Given the description of an element on the screen output the (x, y) to click on. 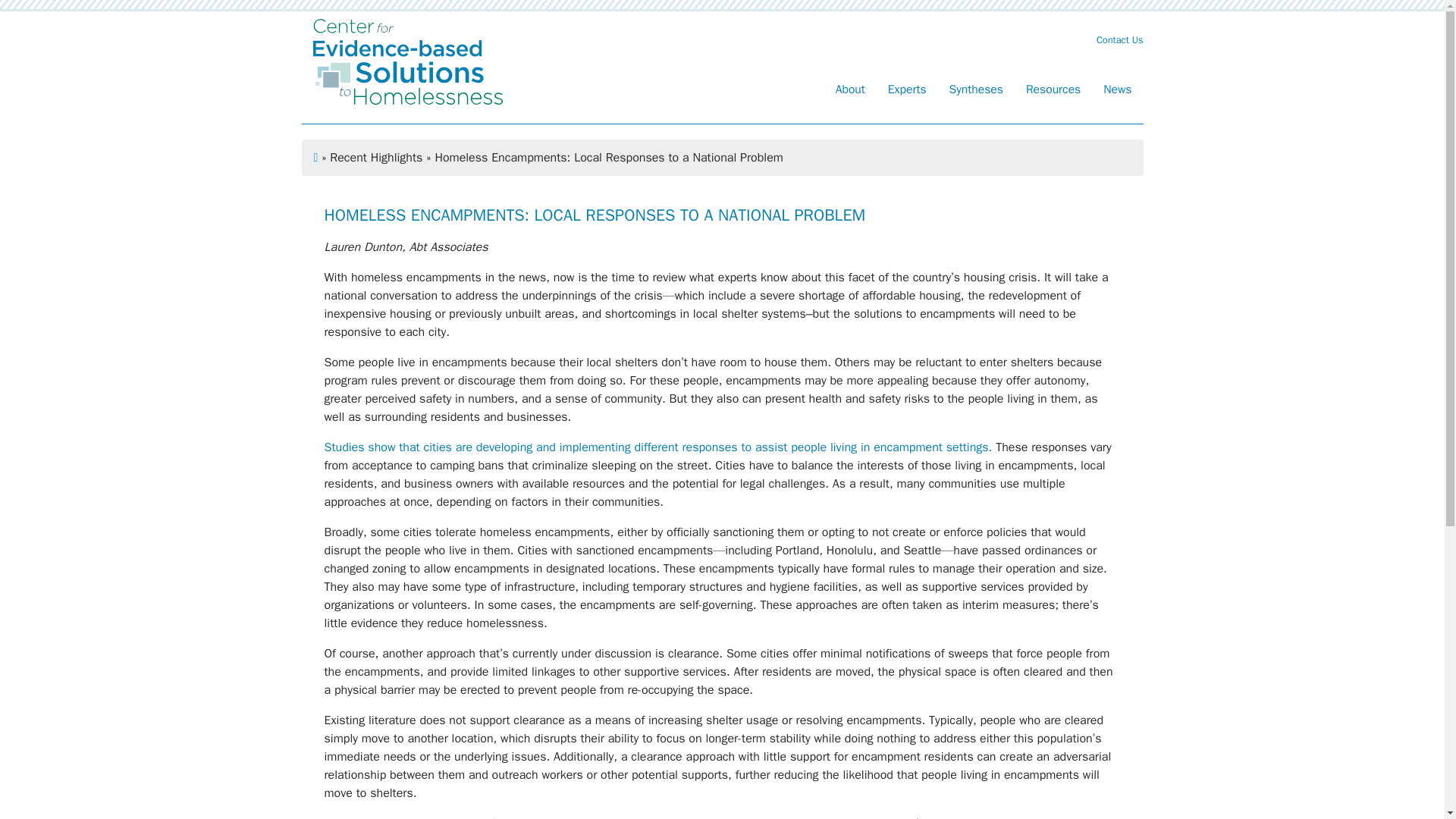
Experts (906, 92)
About (850, 92)
Resources (1053, 92)
Contact Us (1119, 39)
News (1117, 92)
Center for Evidence-based Solutions to Homelessness (407, 61)
Syntheses (975, 92)
HOMELESS ENCAMPMENTS: LOCAL RESPONSES TO A NATIONAL PROBLEM (595, 214)
